Given the description of an element on the screen output the (x, y) to click on. 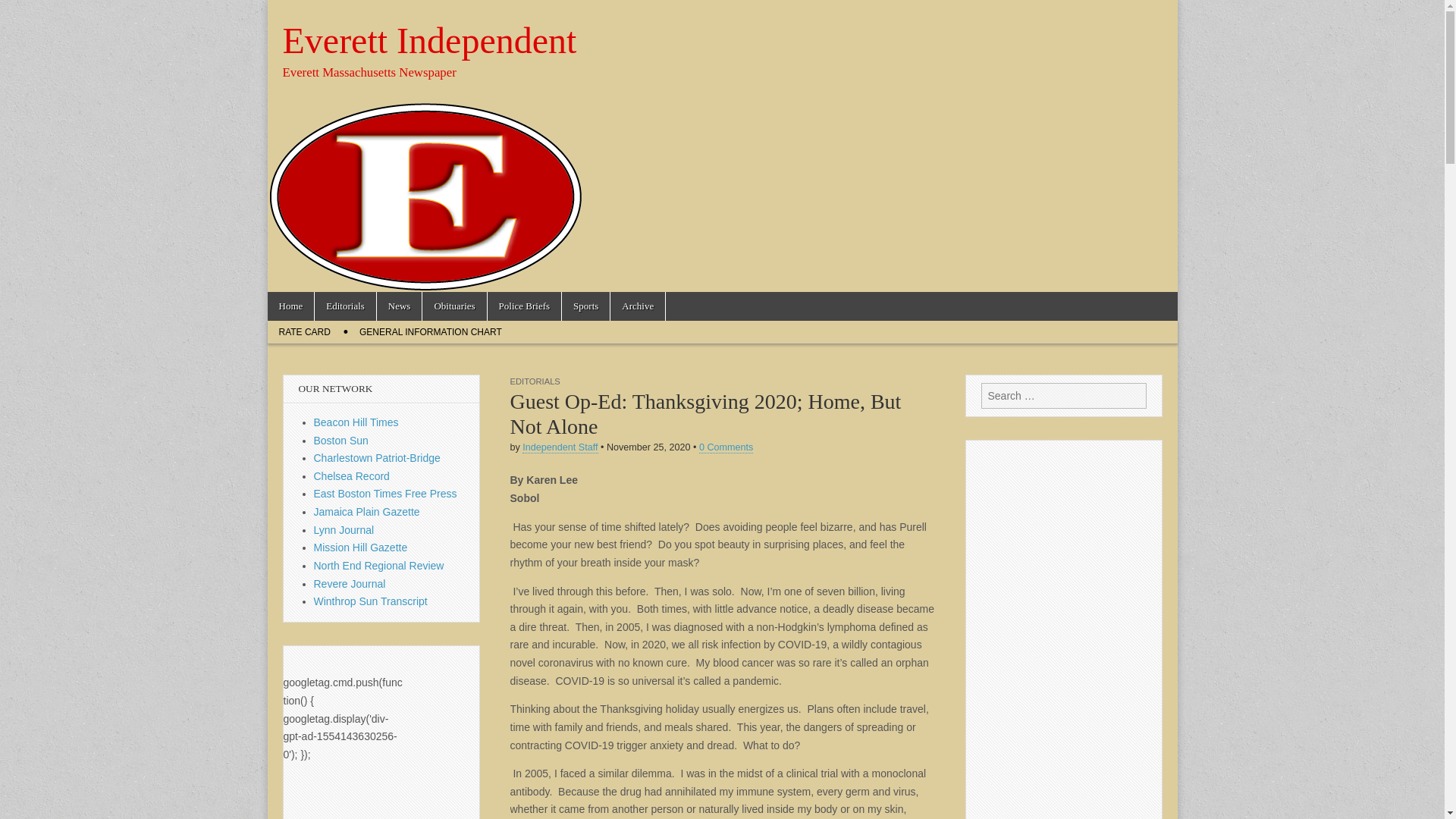
Editorials (344, 306)
GENERAL INFORMATION CHART (430, 332)
Jamaica Plain Gazette (367, 511)
News (399, 306)
Archive (637, 306)
Chelsea Record (352, 476)
Obituaries (454, 306)
Sports (586, 306)
Posts by Independent Staff (559, 447)
Police Briefs (524, 306)
Revere Journal (349, 583)
Mission Hill Gazette (360, 547)
Everett Independent (429, 40)
Winthrop Sun Transcript (371, 601)
